Given the description of an element on the screen output the (x, y) to click on. 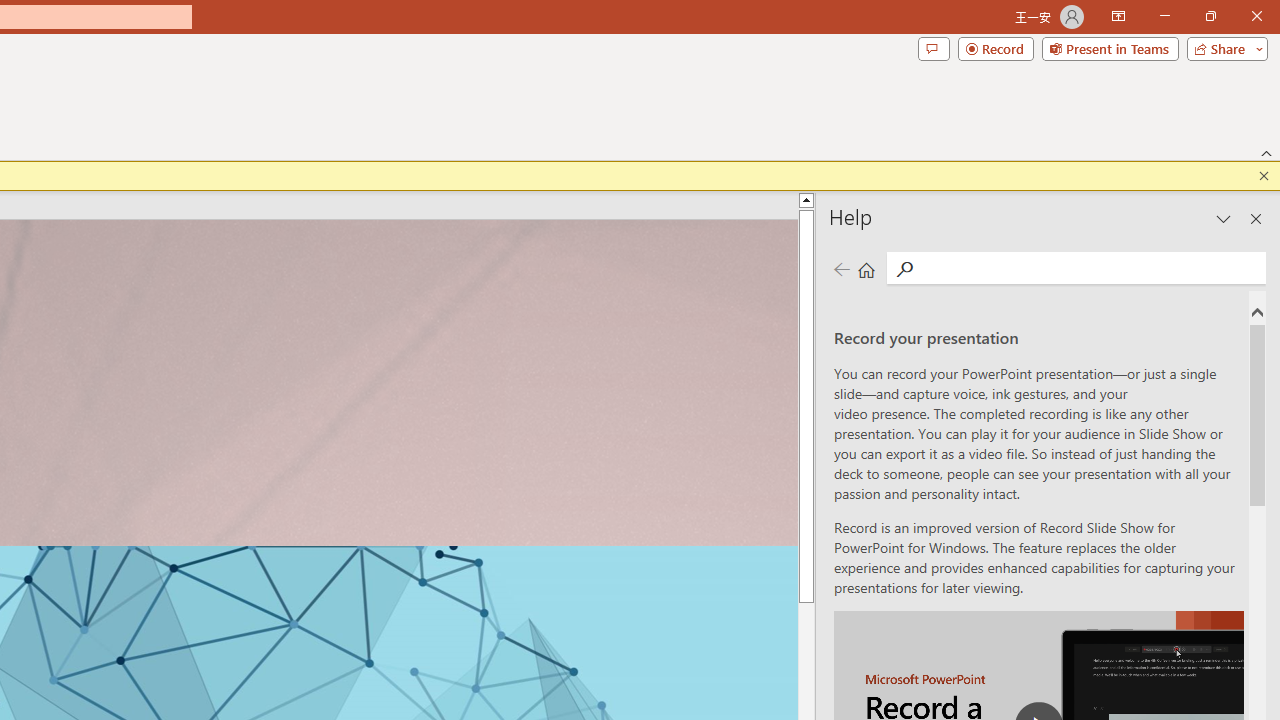
Share (1223, 48)
Home (866, 269)
Ribbon Display Options (1118, 16)
Present in Teams (1109, 48)
Record (995, 48)
Close pane (1256, 219)
Comments (933, 48)
Close (1256, 16)
Search (904, 269)
Search (1089, 268)
Minimize (1164, 16)
Task Pane Options (1224, 219)
Previous page (841, 269)
Close this message (1263, 176)
